Given the description of an element on the screen output the (x, y) to click on. 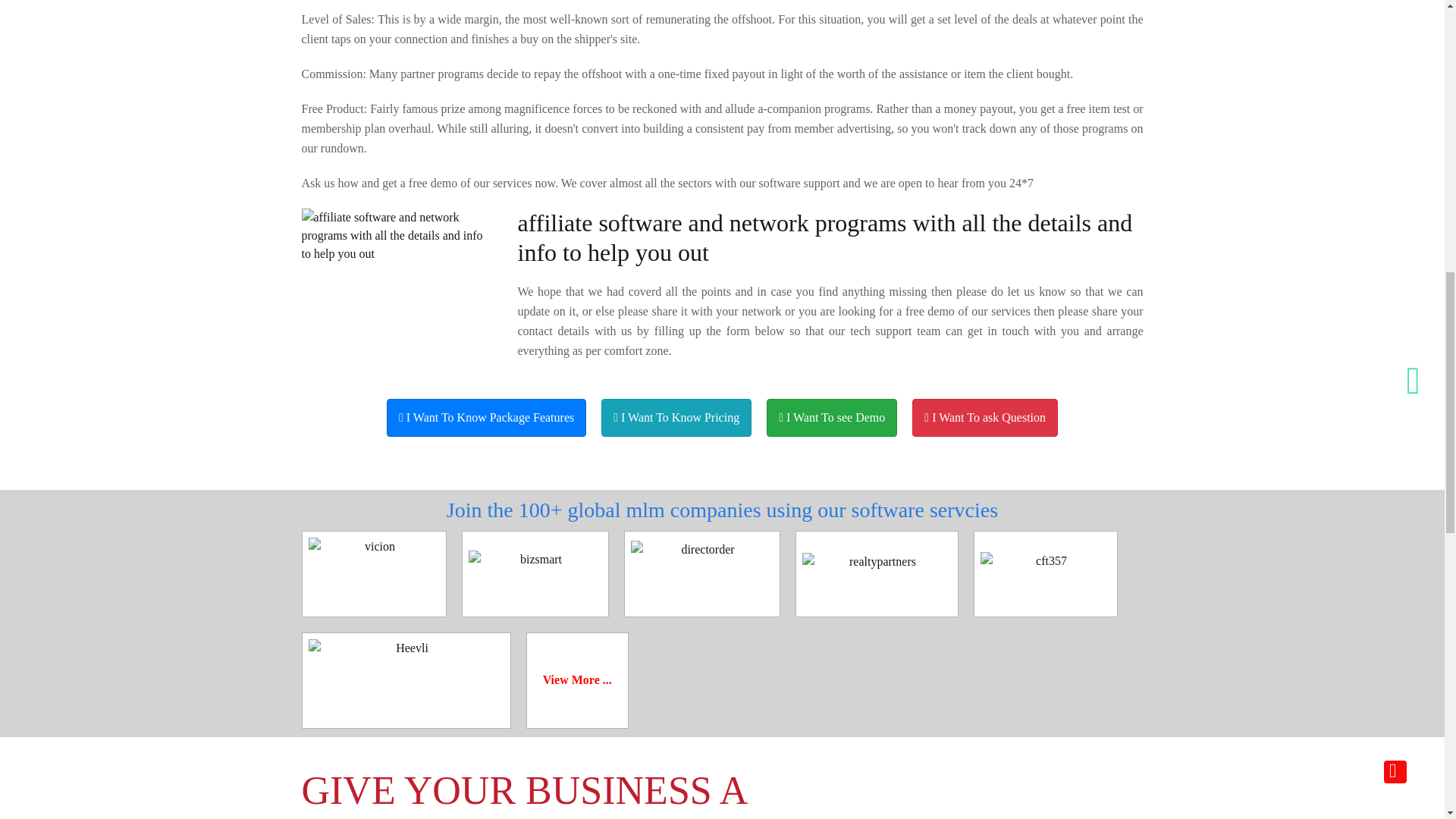
View More ... (577, 679)
I Want To Know Package Features (486, 417)
I Want To see Demo (831, 417)
I Want To Know Pricing (676, 417)
I Want To ask Question (985, 417)
